Given the description of an element on the screen output the (x, y) to click on. 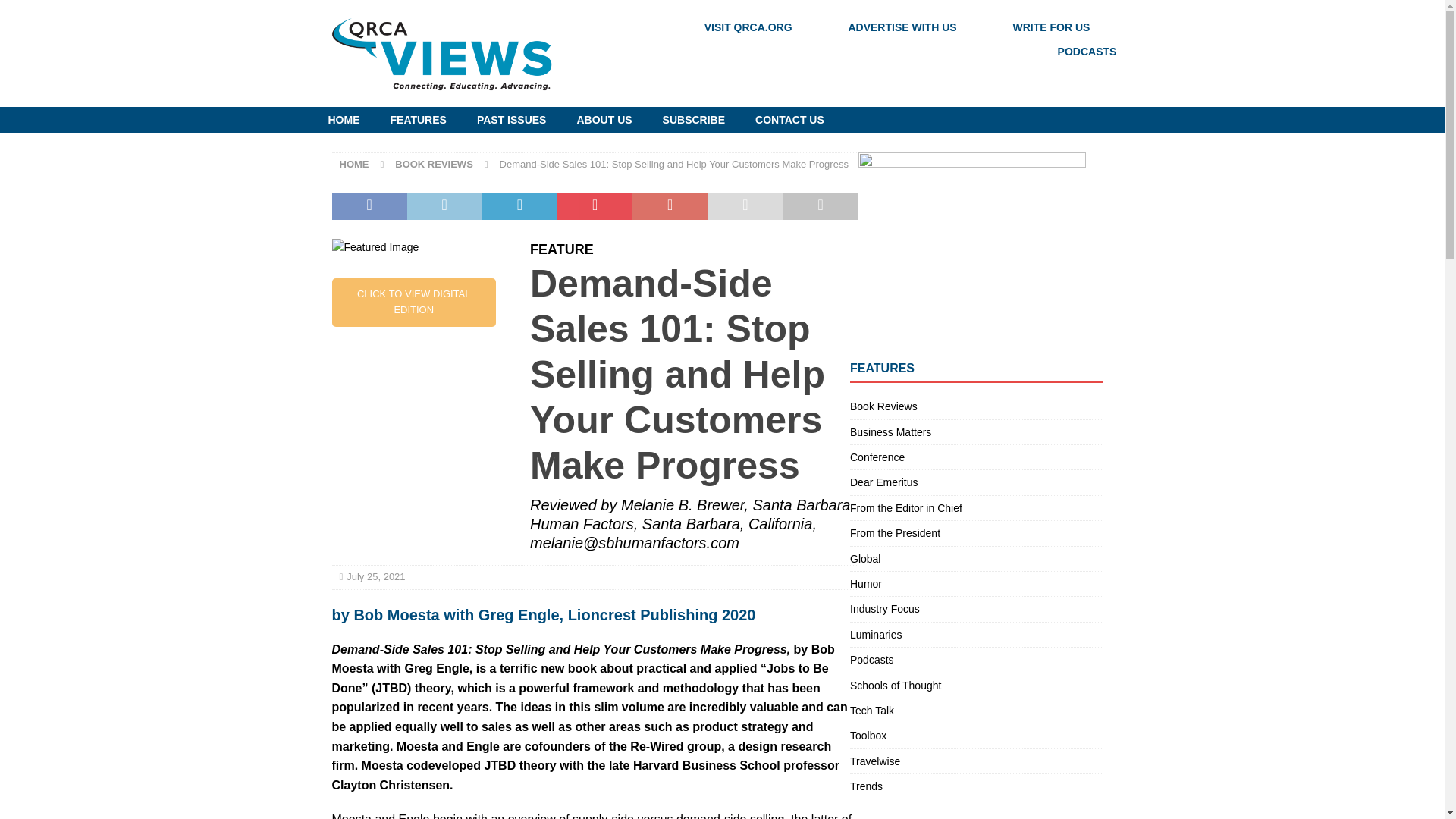
WRITE FOR US (1050, 27)
July 25, 2021 (375, 576)
ABOUT US (603, 120)
CLICK TO VIEW DIGITAL EDITION (413, 302)
CONTACT US (789, 120)
HOME (343, 120)
PAST ISSUES (511, 120)
BOOK REVIEWS (433, 163)
ADVERTISE WITH US (901, 27)
SUBSCRIBE (693, 120)
